Given the description of an element on the screen output the (x, y) to click on. 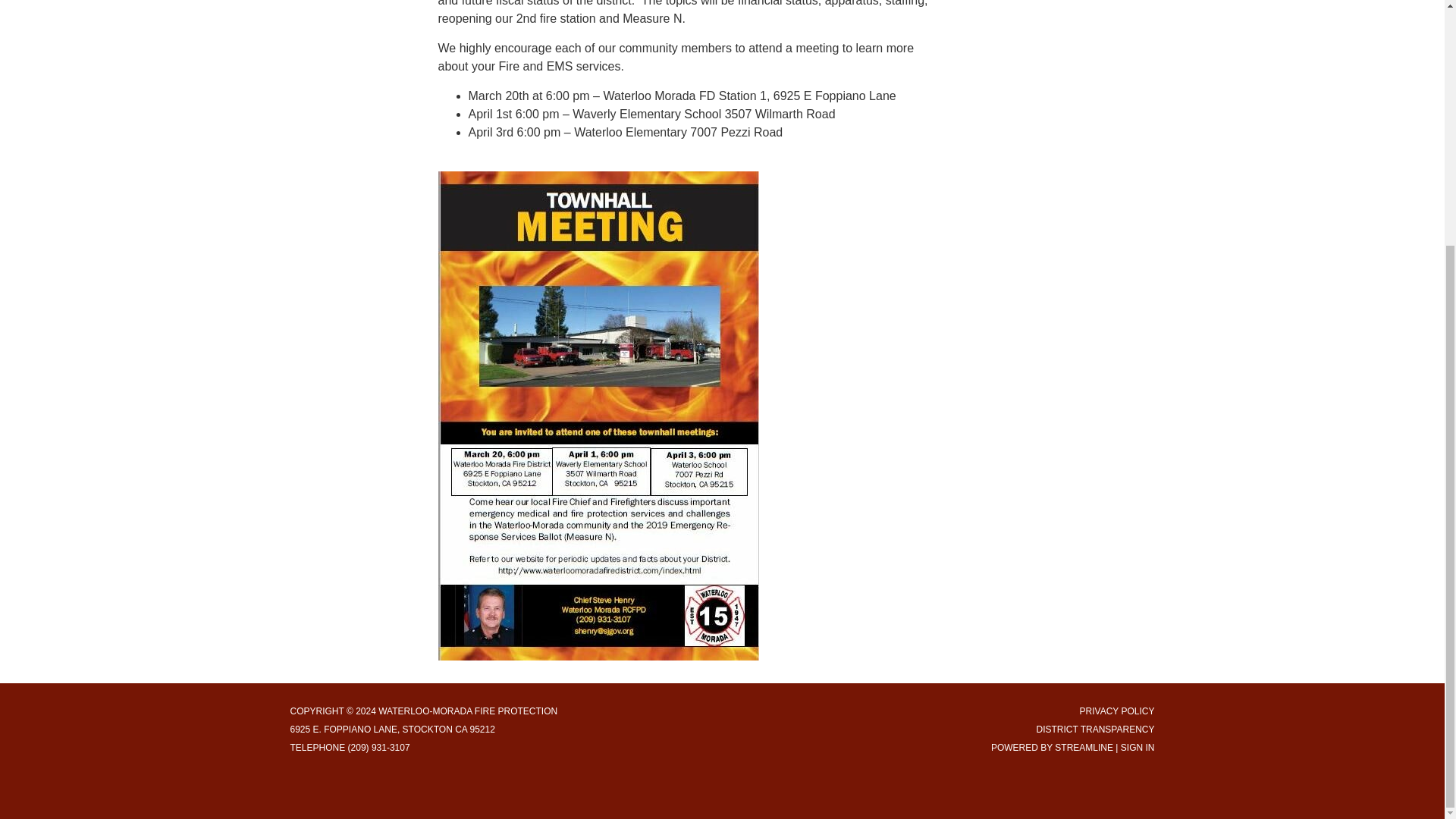
Streamline: Technology for Special Districts (1083, 747)
SIGN IN (1137, 747)
DISTRICT TRANSPARENCY (1094, 728)
STREAMLINE (1083, 747)
PRIVACY POLICY (1117, 710)
Special District Transparency Report (1094, 728)
